Given the description of an element on the screen output the (x, y) to click on. 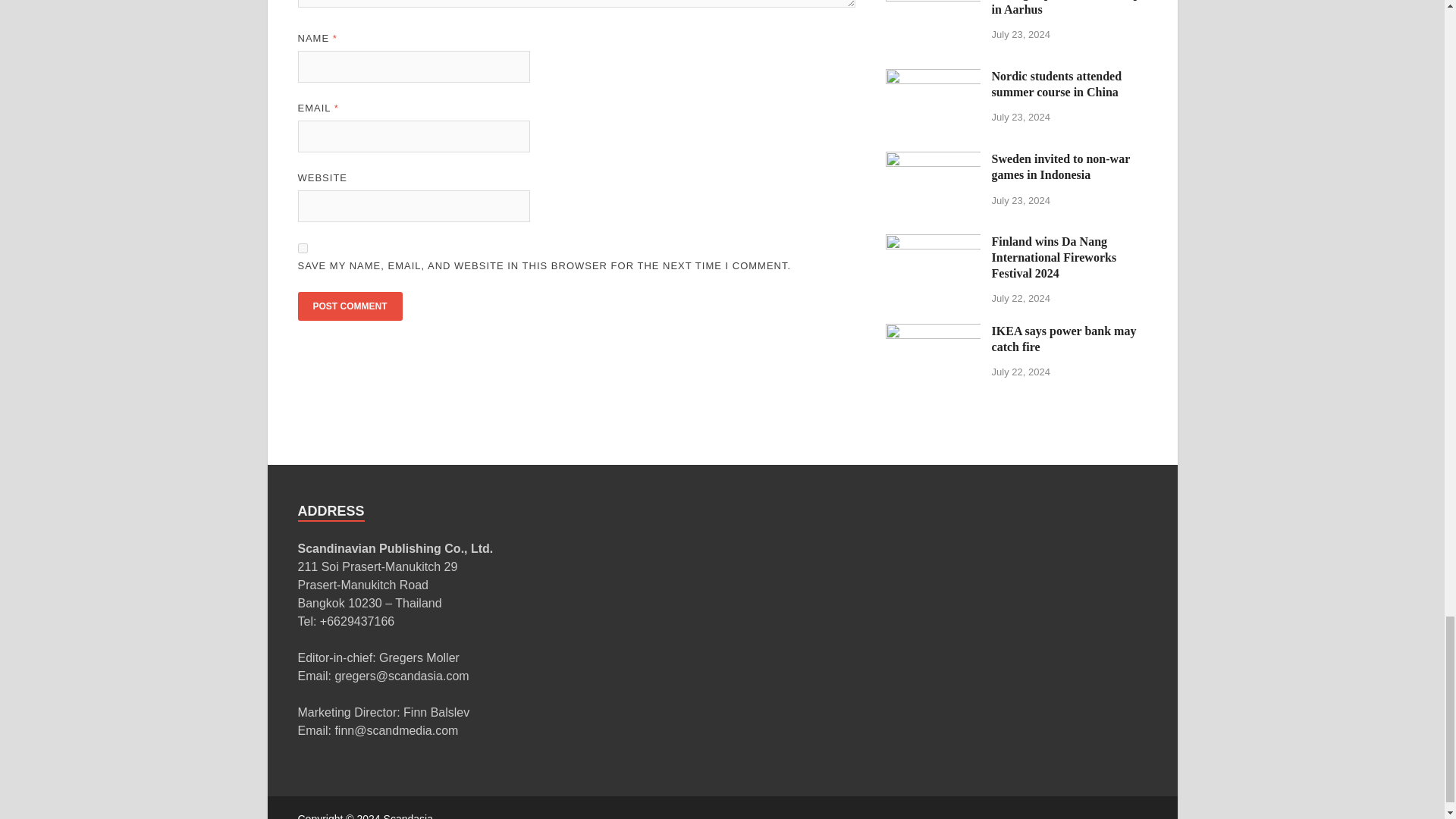
Testing deposit on coffee cups in Aarhus (932, 0)
Nordic students attended summer course in China (932, 77)
Post Comment (349, 306)
yes (302, 248)
